Given the description of an element on the screen output the (x, y) to click on. 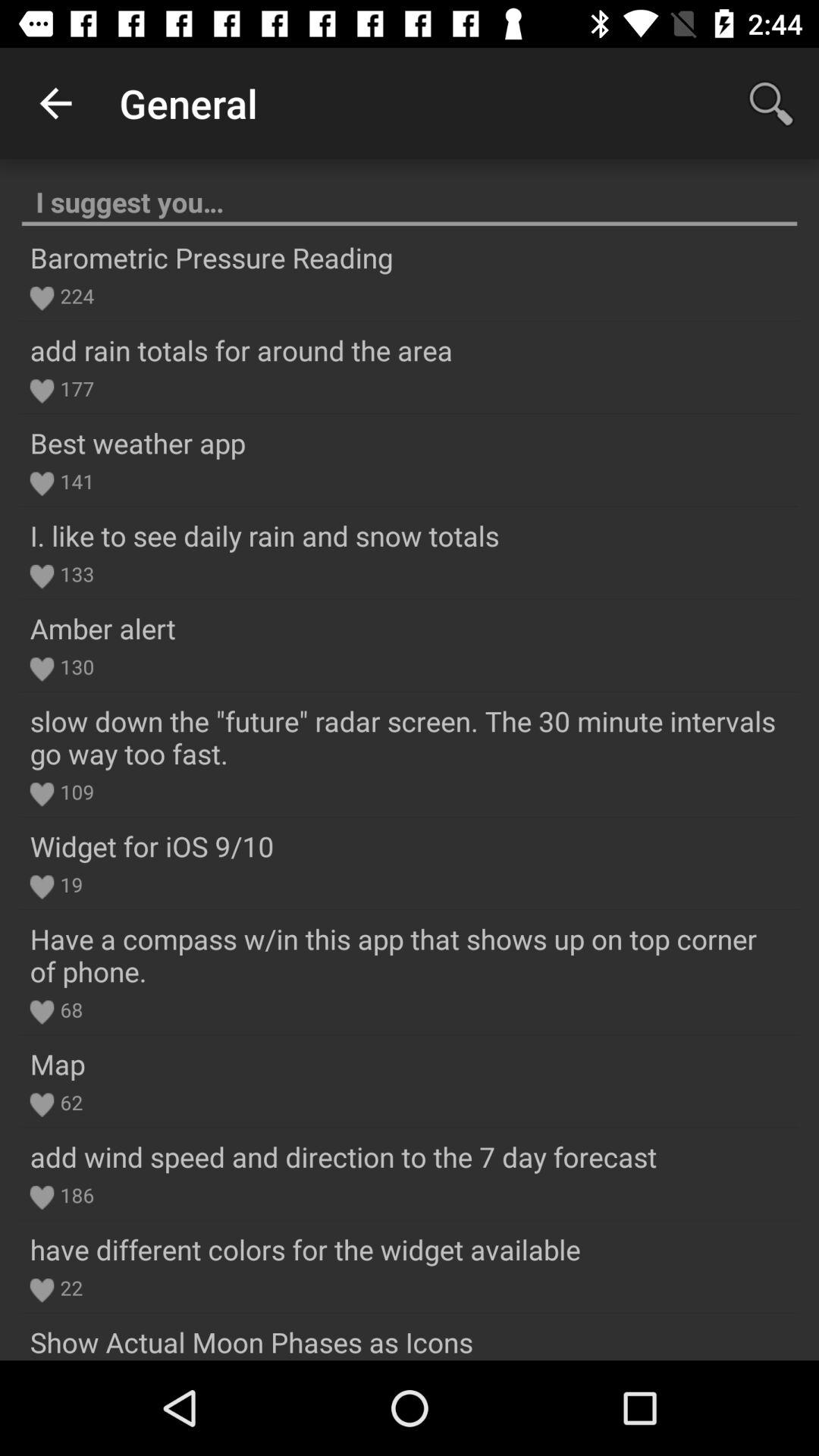
turn on map (57, 1063)
